Given the description of an element on the screen output the (x, y) to click on. 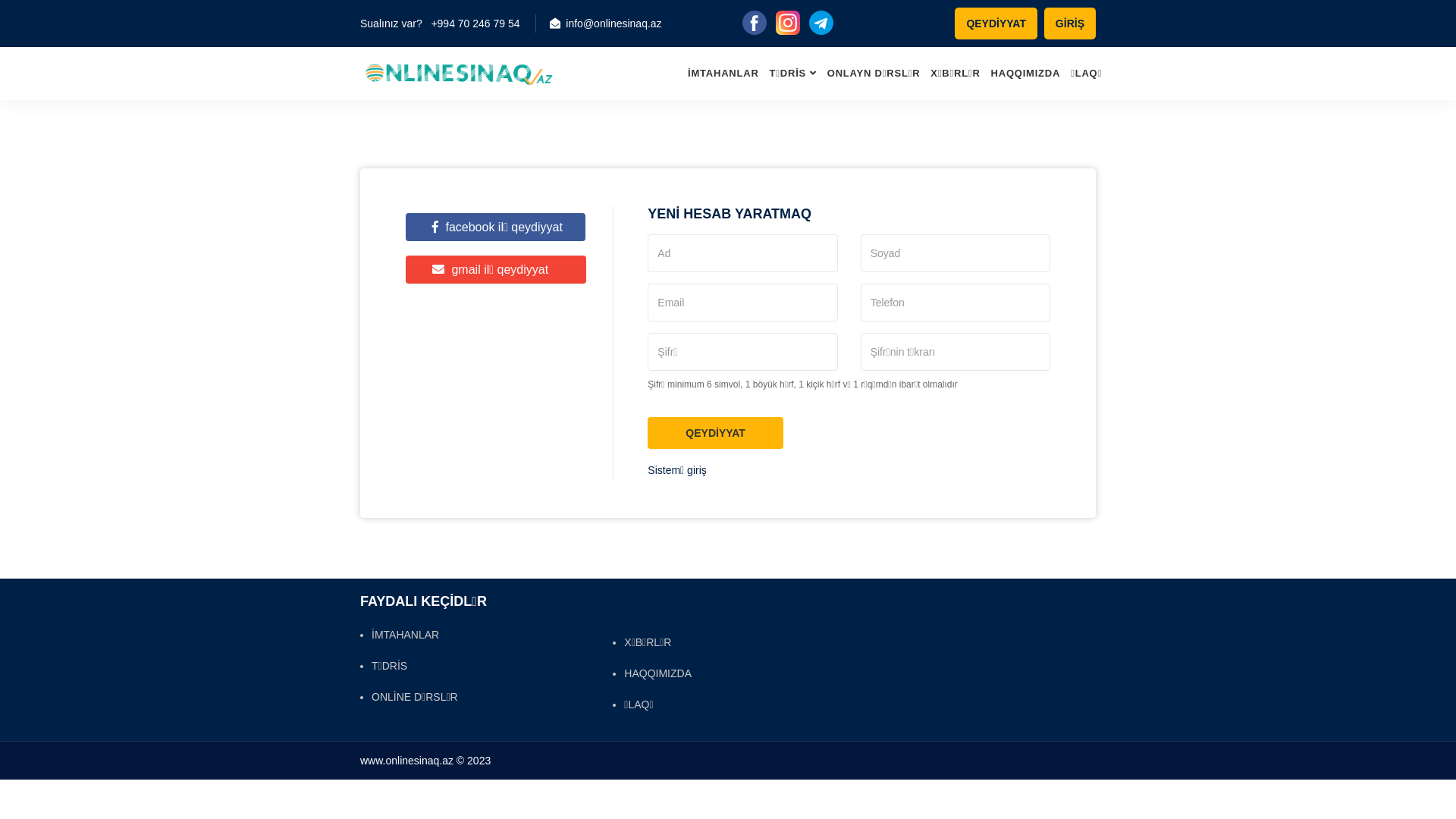
HAQQIMIZDA Element type: text (1025, 73)
HAQQIMIZDA Element type: text (651, 673)
